Given the description of an element on the screen output the (x, y) to click on. 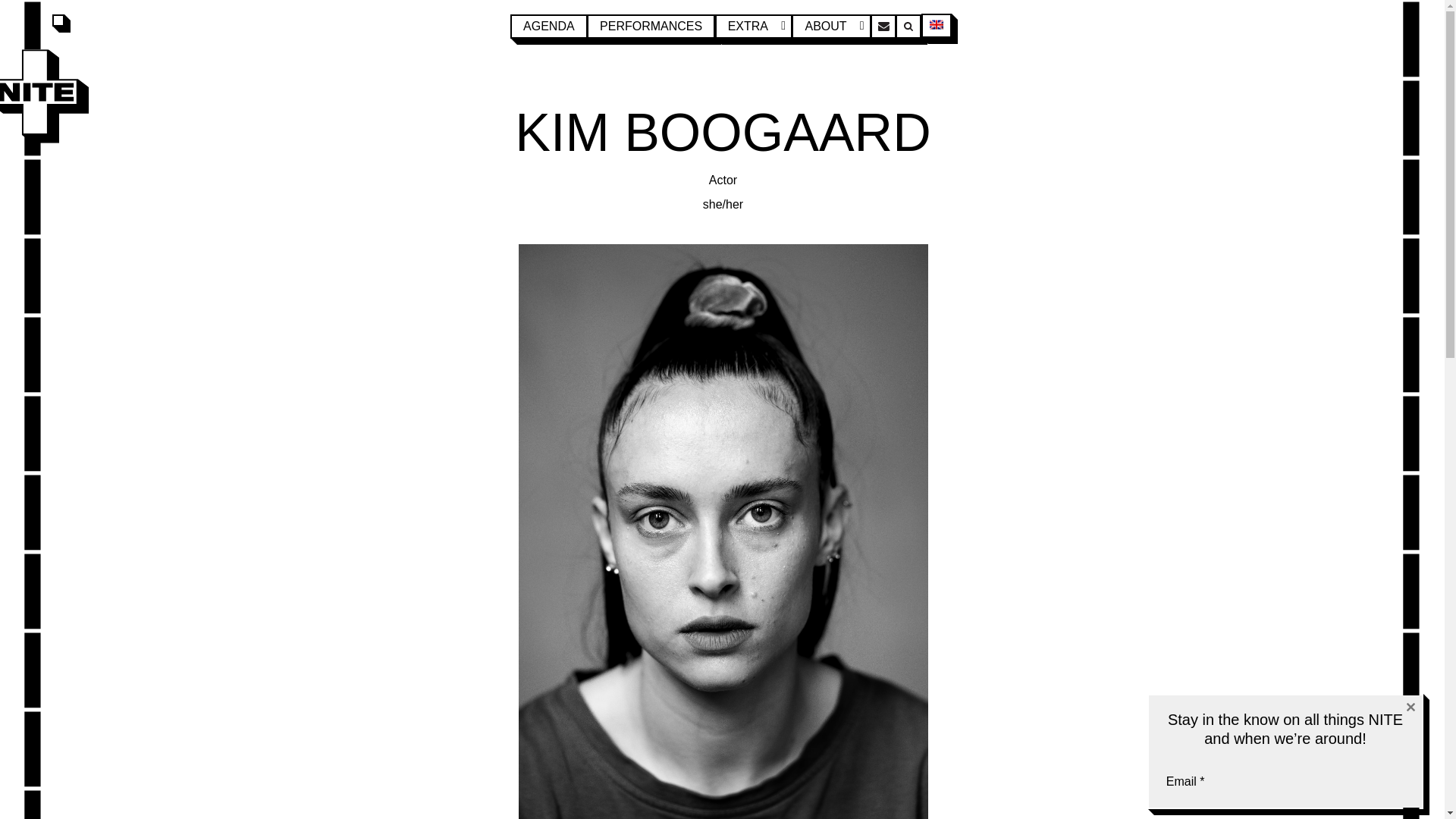
PERFORMANCES (650, 26)
EXTRA (753, 26)
ABOUT (831, 26)
AGENDA (549, 26)
